Given the description of an element on the screen output the (x, y) to click on. 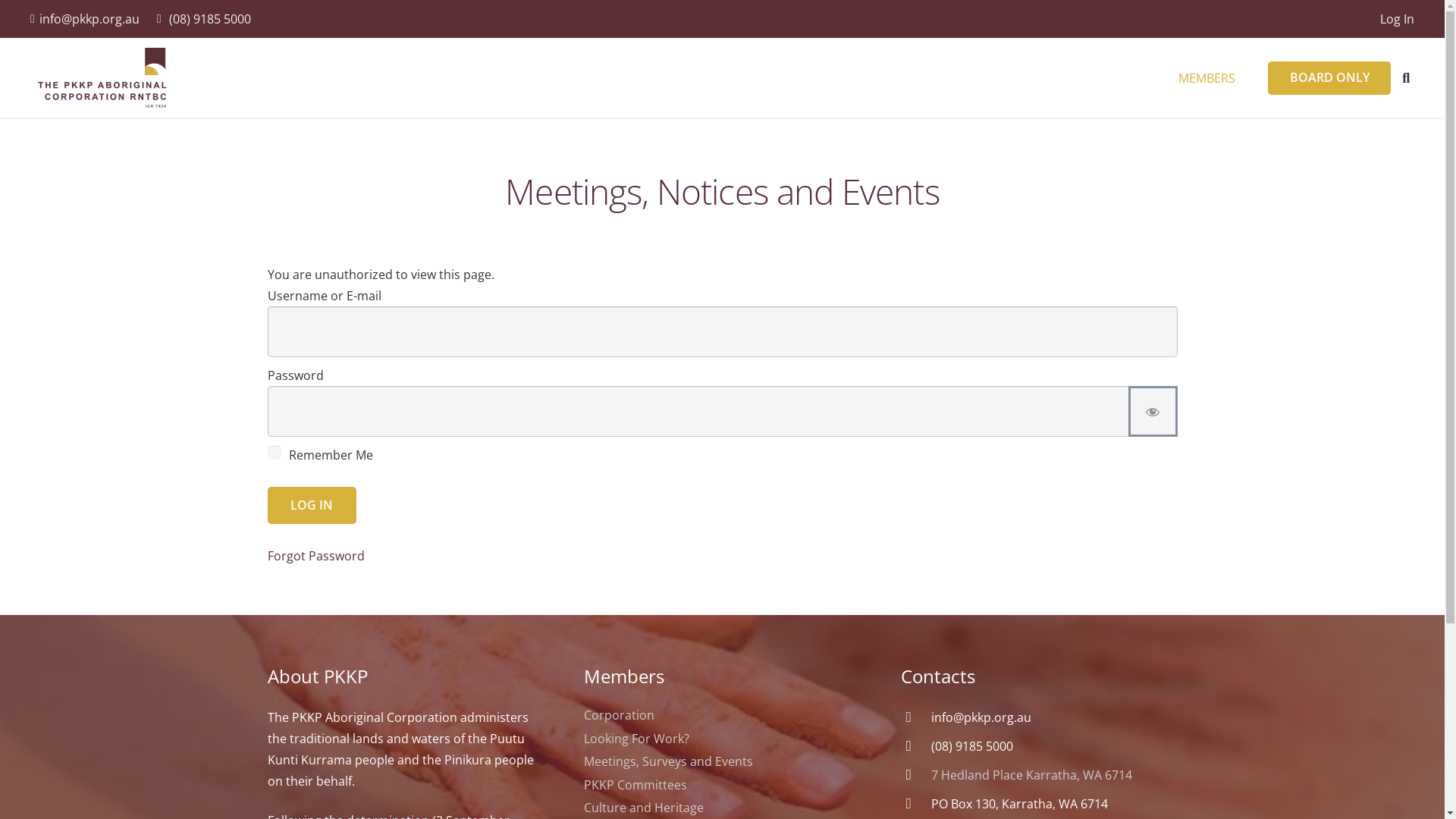
PO Box 130, Karratha, WA 6714 Element type: text (1019, 803)
Corporation Element type: text (618, 714)
Culture and Heritage Element type: text (643, 807)
PKKP Committees Element type: text (635, 784)
info@pkkp.org.au Element type: text (981, 717)
info@pkkp.org.au Element type: text (84, 18)
Forgot Password Element type: text (315, 555)
Log In Element type: text (1397, 18)
MEMBERS Element type: text (1206, 77)
Log In Element type: text (311, 505)
BOARD ONLY Element type: text (1329, 78)
Looking For Work? Element type: text (636, 738)
7 Hedland Place Karratha, WA 6714 Element type: text (1031, 774)
(08) 9185 5000 Element type: text (203, 18)
Meetings, Surveys and Events Element type: text (668, 761)
(08) 9185 5000 Element type: text (972, 745)
